Given the description of an element on the screen output the (x, y) to click on. 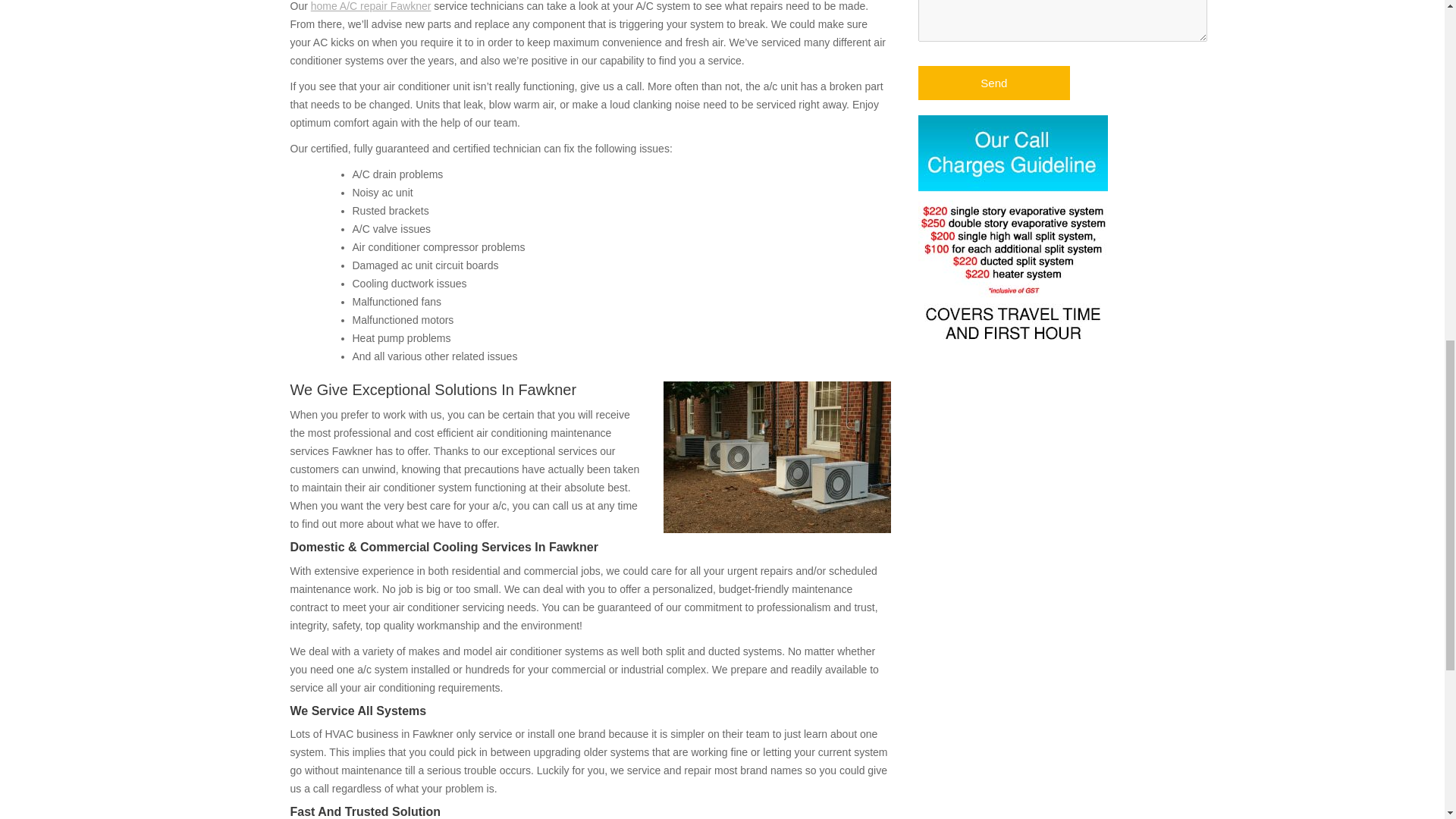
Send (994, 82)
Send (994, 82)
